Given the description of an element on the screen output the (x, y) to click on. 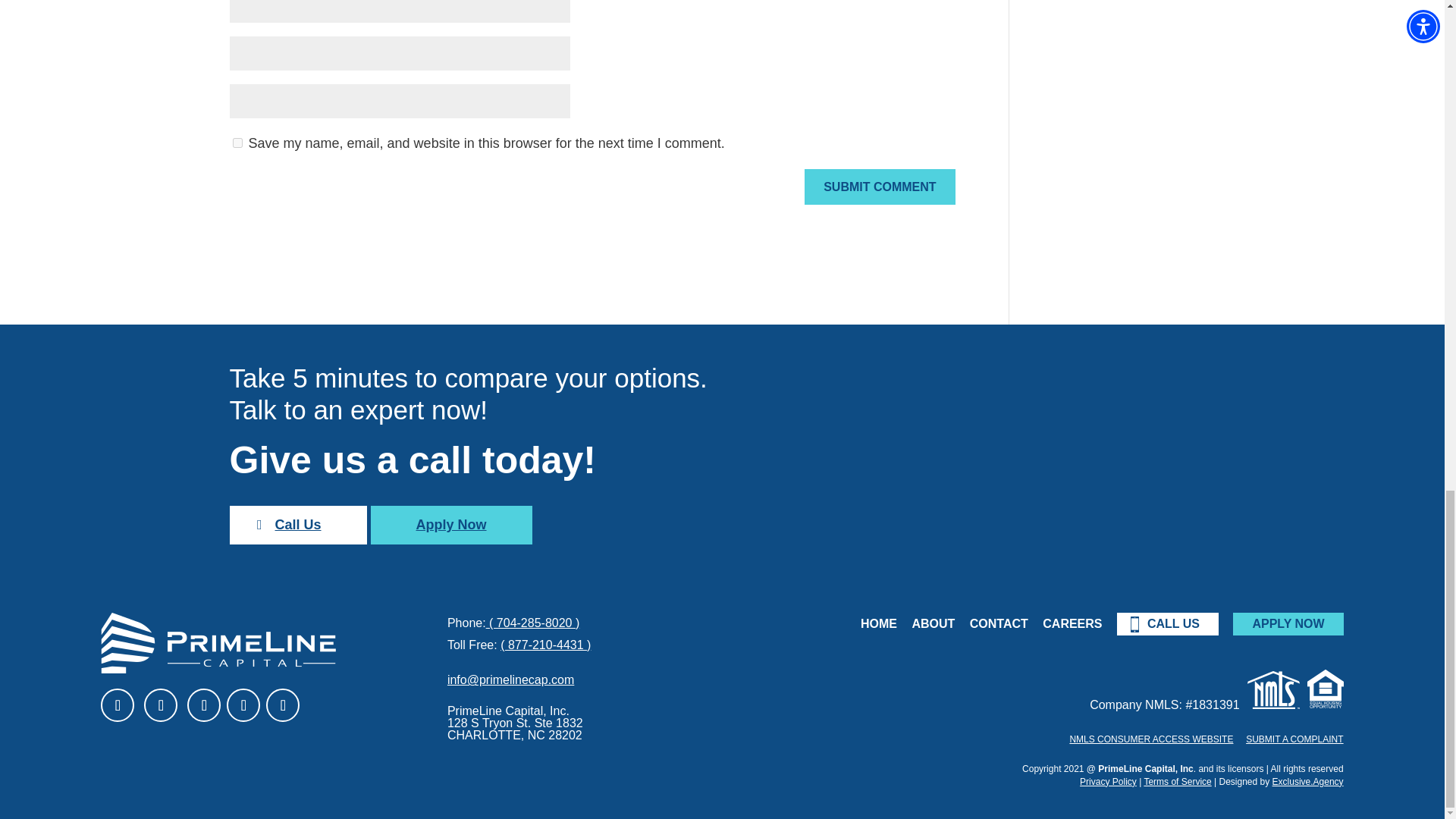
Call Us (297, 525)
Submit Comment (880, 186)
Submit Comment (880, 186)
Follow on Facebook (116, 704)
Follow on LinkedIn (160, 704)
yes (236, 143)
logo (218, 642)
Apply Now (451, 525)
